Given the description of an element on the screen output the (x, y) to click on. 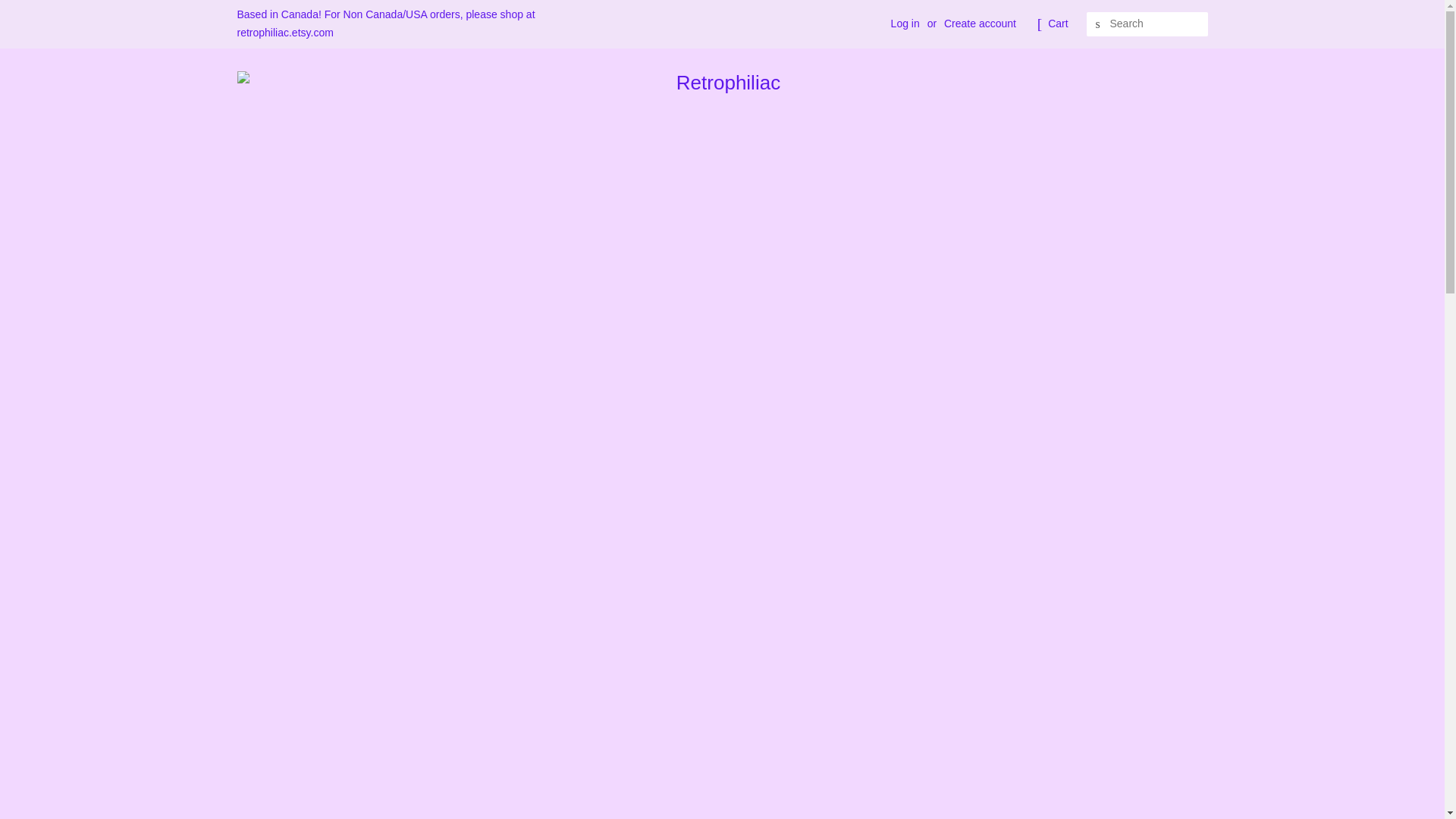
Cart (1057, 24)
SEARCH (1097, 24)
Create account (979, 23)
Log in (905, 23)
